Given the description of an element on the screen output the (x, y) to click on. 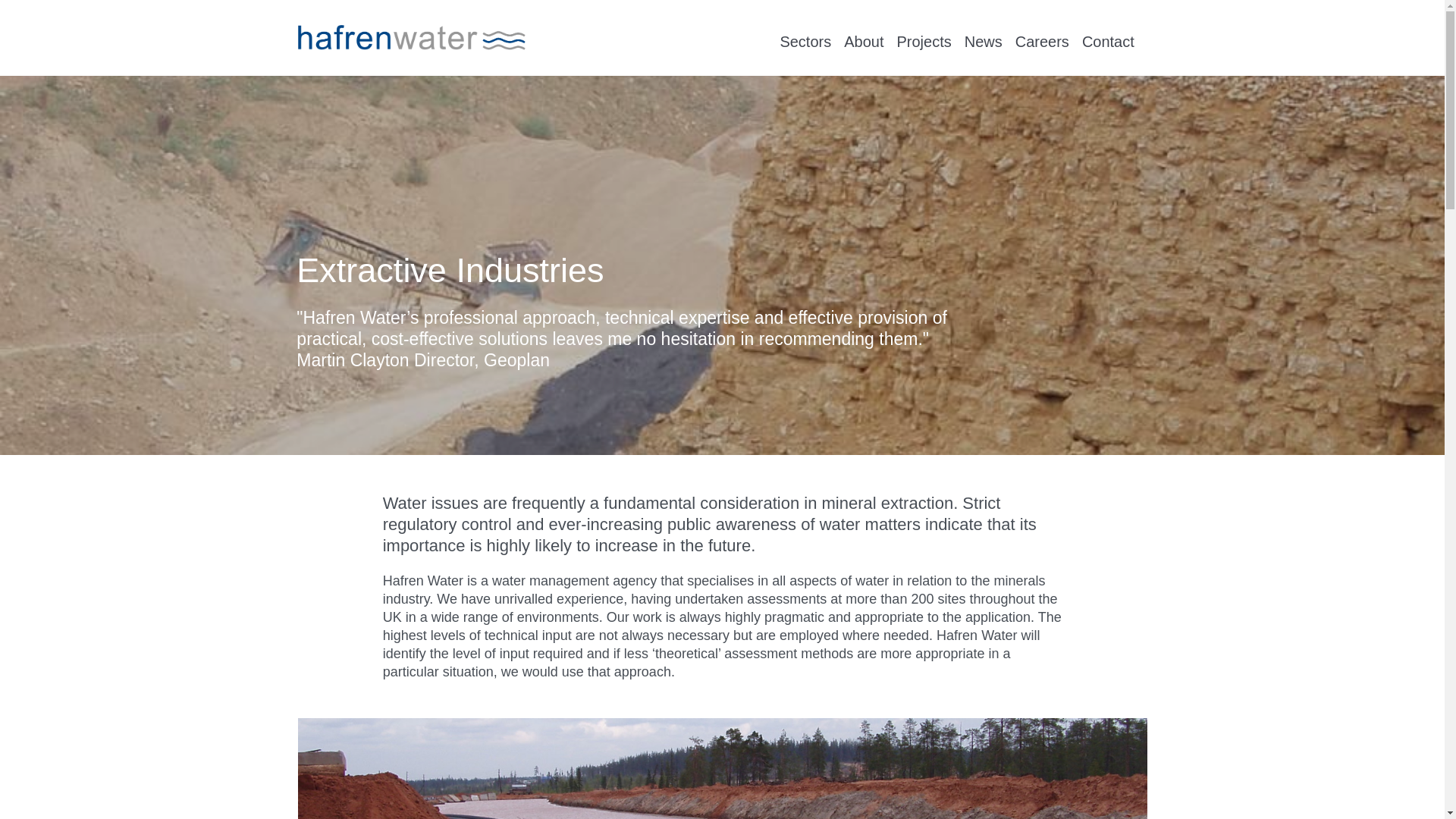
Careers (1041, 22)
Contact (1107, 22)
Contact (1107, 41)
Careers (1041, 41)
News (983, 41)
Sectors (804, 22)
News (983, 22)
Sectors (804, 41)
Projects (923, 41)
About (863, 22)
About (863, 41)
Projects (923, 22)
